Given the description of an element on the screen output the (x, y) to click on. 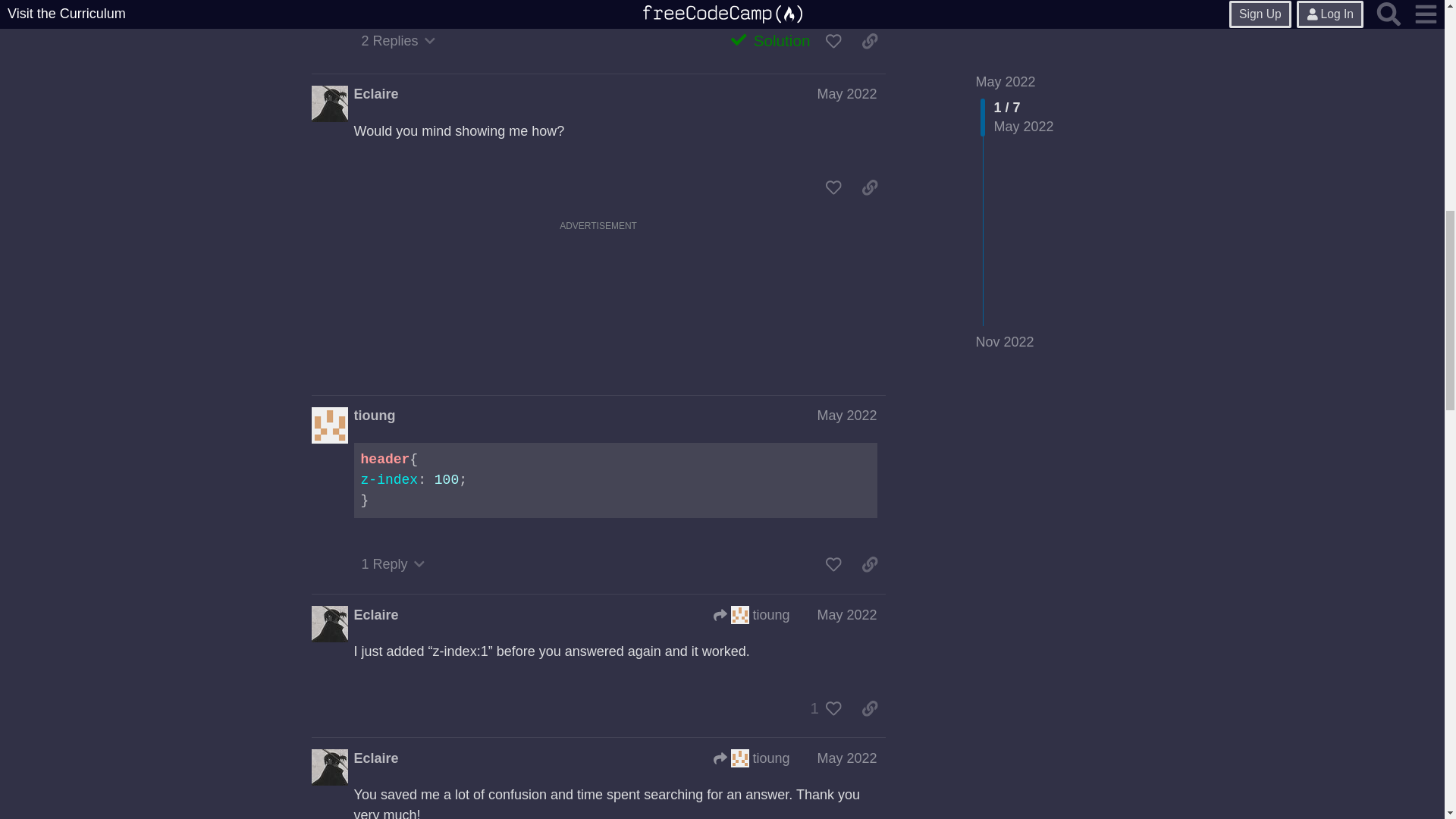
Eclaire (375, 94)
May 2022 (846, 93)
2 Replies (398, 40)
